Given the description of an element on the screen output the (x, y) to click on. 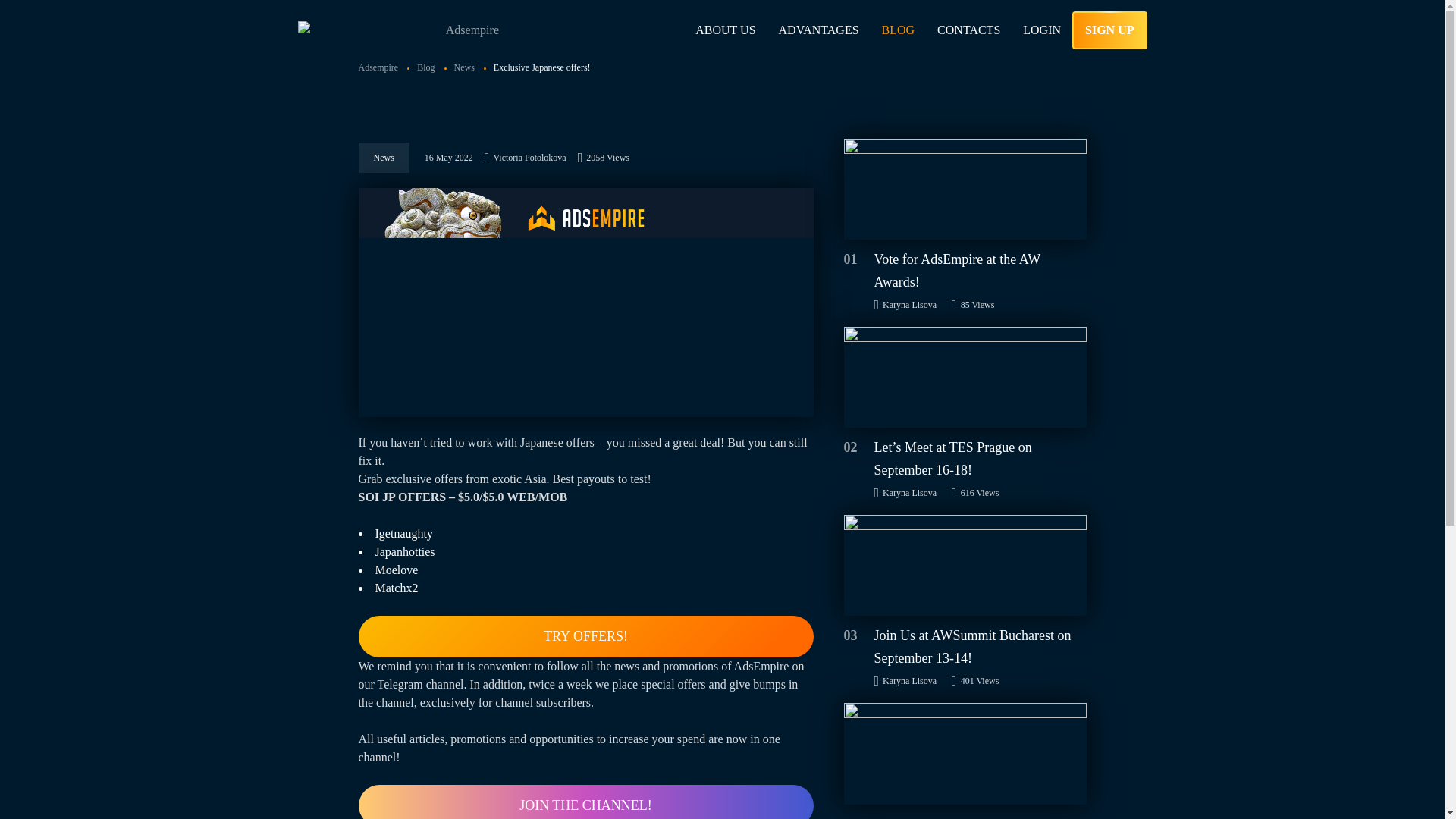
CONTACTS (968, 30)
2058 Views (603, 157)
JOIN THE CHANNEL! (585, 801)
Posts by Karyna Lisova (904, 492)
News (468, 67)
Blog (430, 67)
Victoria Potolokova (525, 157)
TRY OFFERS! (585, 636)
ADVANTAGES (818, 30)
Vote for AdsEmpire at the AW Awards!  (964, 188)
